Given the description of an element on the screen output the (x, y) to click on. 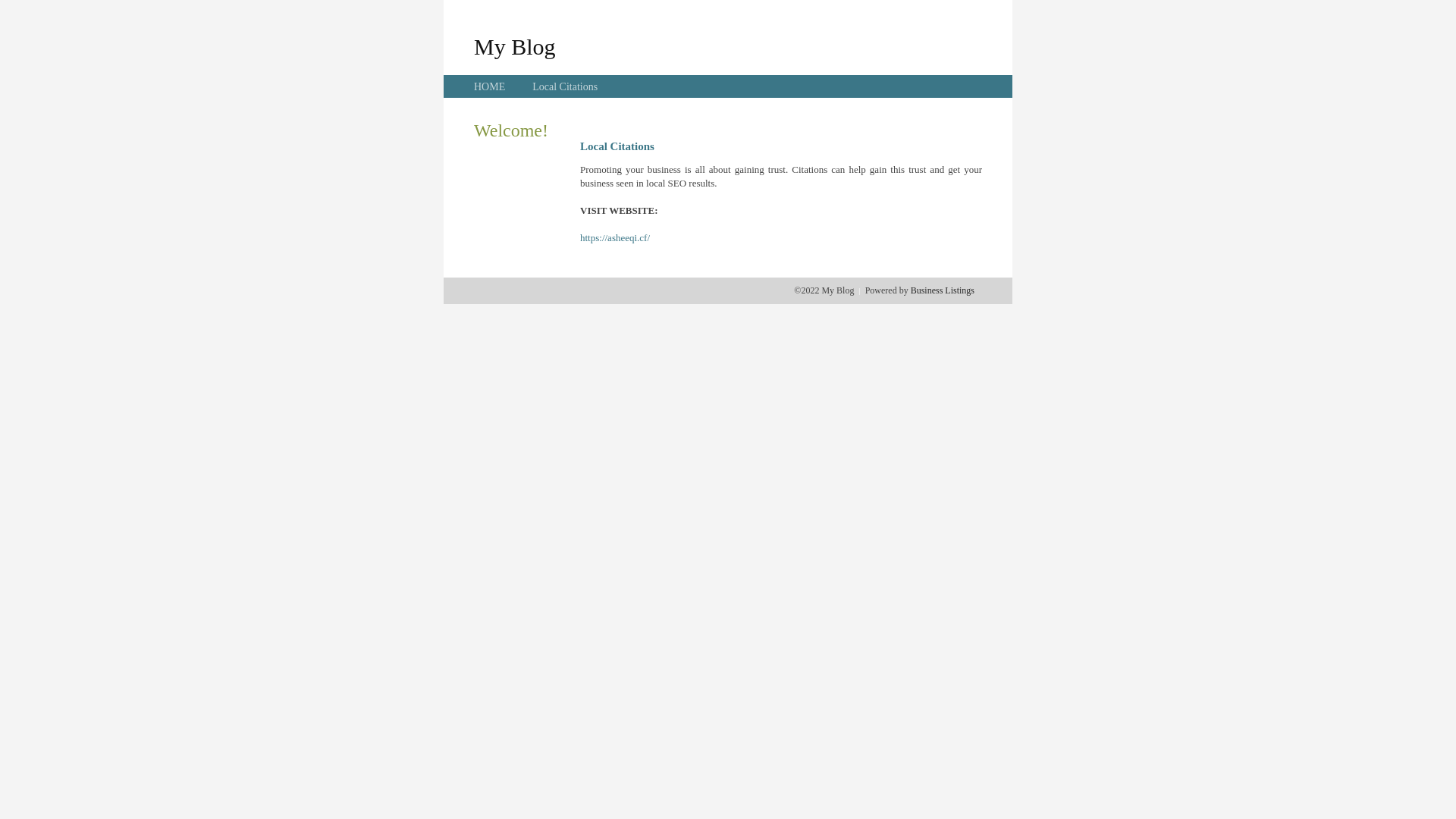
My Blog Element type: text (514, 46)
HOME Element type: text (489, 86)
Business Listings Element type: text (942, 290)
https://asheeqi.cf/ Element type: text (614, 237)
Local Citations Element type: text (564, 86)
